Given the description of an element on the screen output the (x, y) to click on. 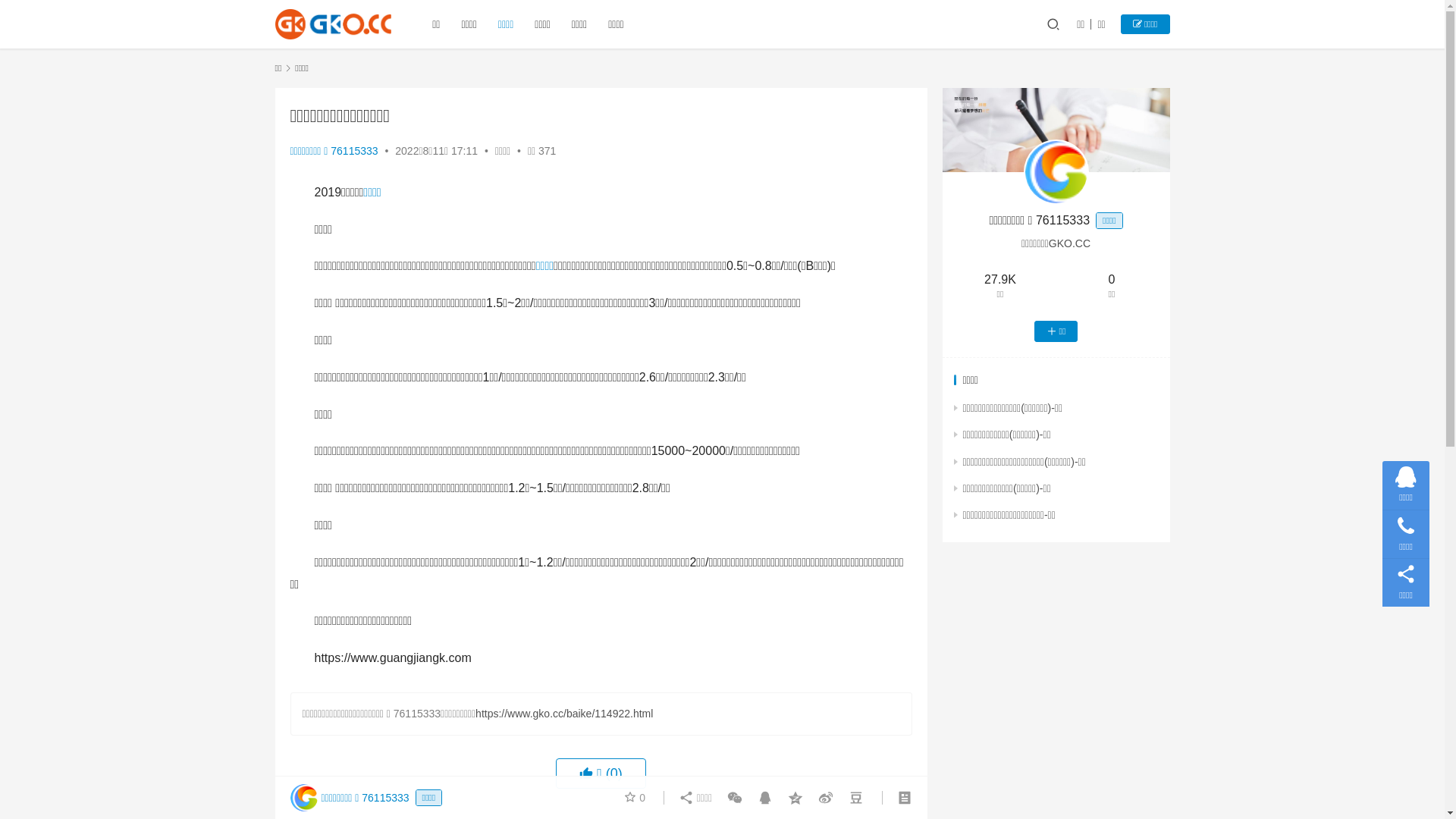
0 Element type: text (634, 797)
